Given the description of an element on the screen output the (x, y) to click on. 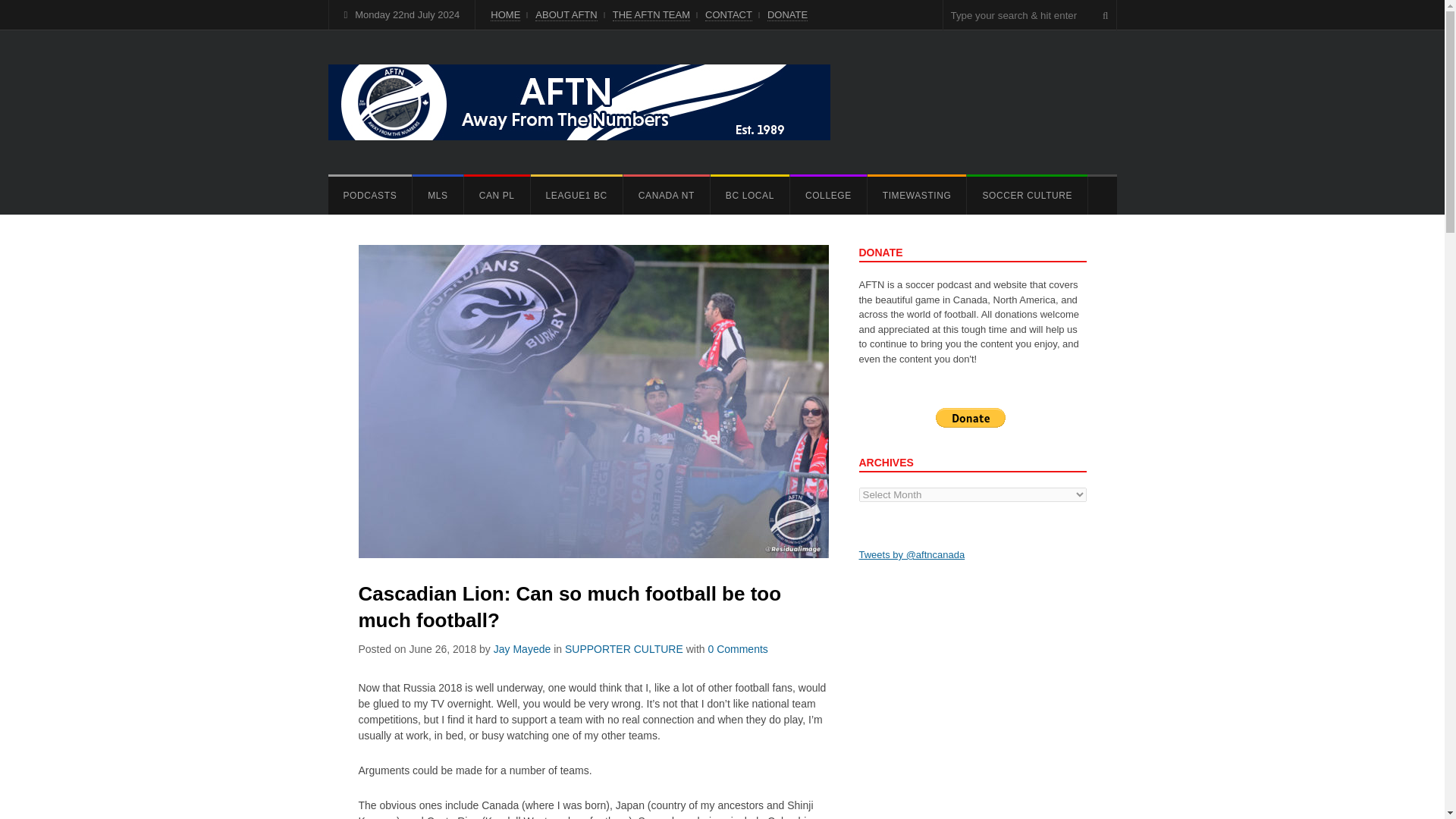
HOME (504, 15)
Posts by Jay Mayede (521, 648)
THE AFTN TEAM (651, 15)
CONTACT (728, 15)
Advertisement (972, 702)
ABOUT AFTN (565, 15)
COLLEGE (828, 195)
MLS (437, 195)
AFTN (578, 102)
LEAGUE1 BC (577, 195)
PODCASTS (369, 195)
CANADA NT (666, 195)
TIMEWASTING (916, 195)
CAN PL (496, 195)
DONATE (787, 15)
